Given the description of an element on the screen output the (x, y) to click on. 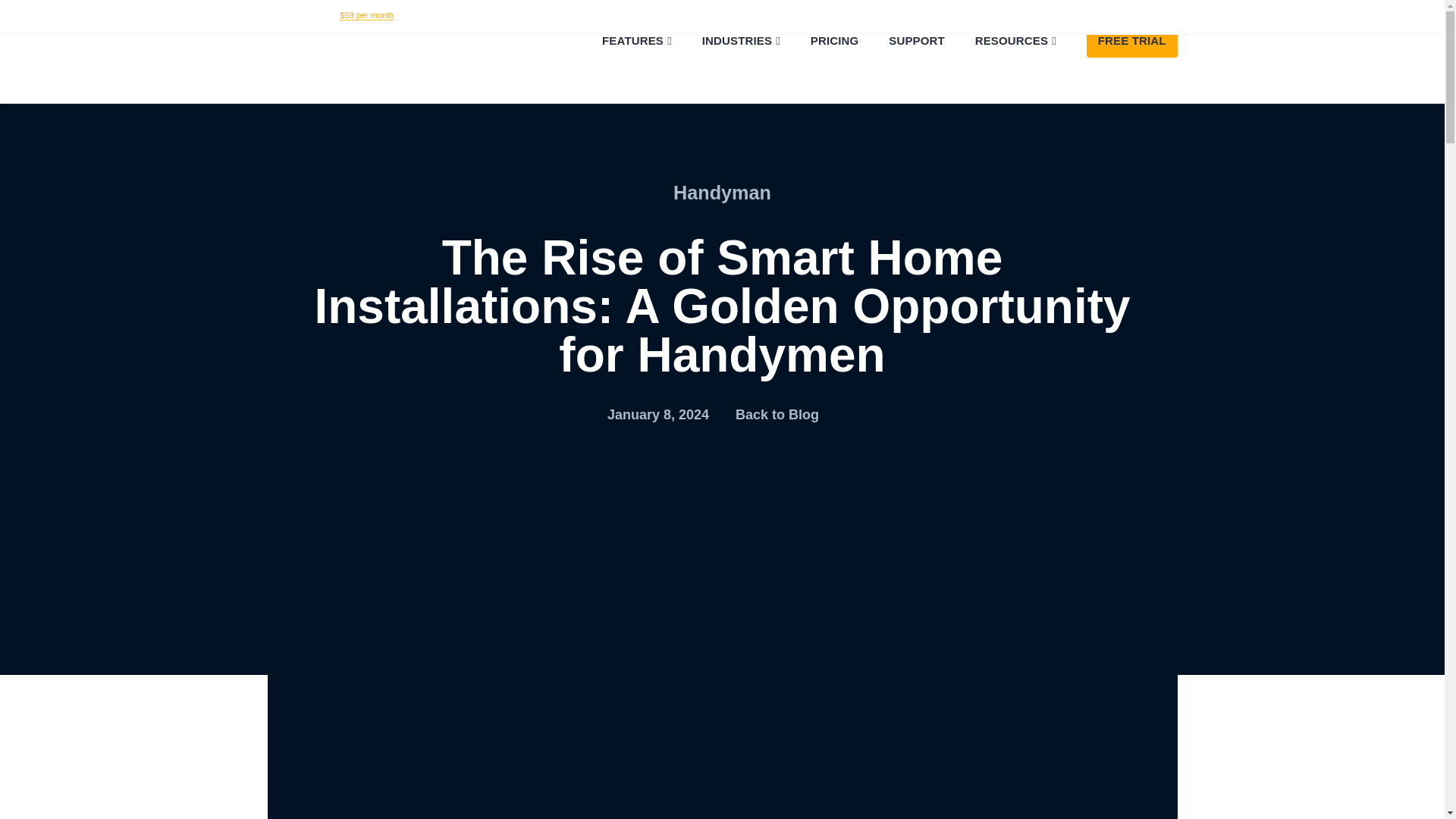
FEATURES (621, 69)
FREE TRIAL (1117, 57)
INDUSTRIES (725, 69)
SUPPORT (901, 69)
PRICING (819, 69)
RESOURCES (1000, 69)
LOGIN (1163, 15)
